Given the description of an element on the screen output the (x, y) to click on. 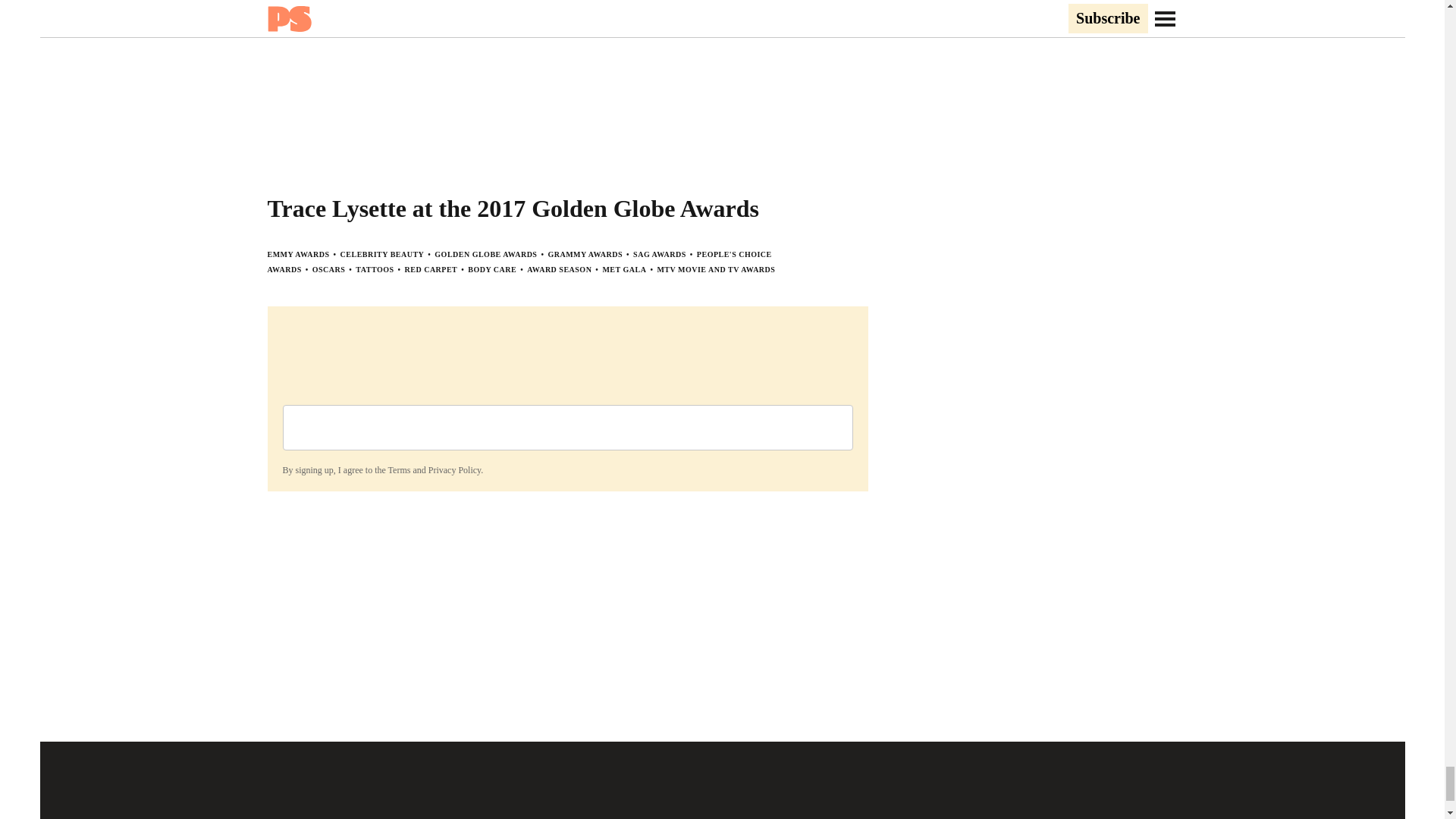
RED CARPET (431, 269)
AWARD SEASON (559, 269)
CELEBRITY BEAUTY (382, 254)
PEOPLE'S CHOICE AWARDS (518, 261)
Terms (399, 470)
MTV MOVIE AND TV AWARDS (715, 269)
EMMY AWARDS (297, 254)
GOLDEN GLOBE AWARDS (485, 254)
SAG AWARDS (659, 254)
GRAMMY AWARDS (585, 254)
